Given the description of an element on the screen output the (x, y) to click on. 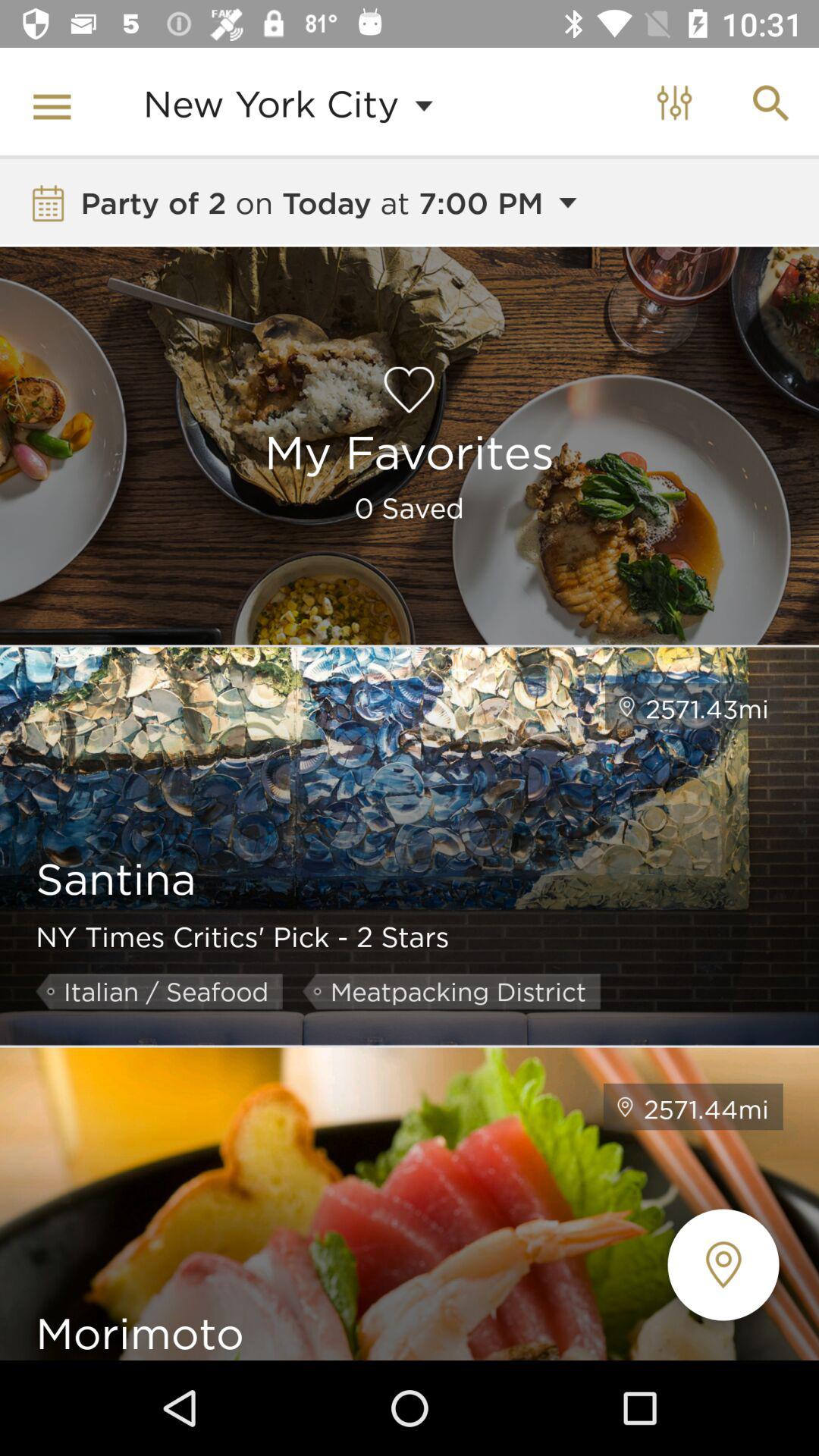
launch the item next to the new york city (55, 103)
